Given the description of an element on the screen output the (x, y) to click on. 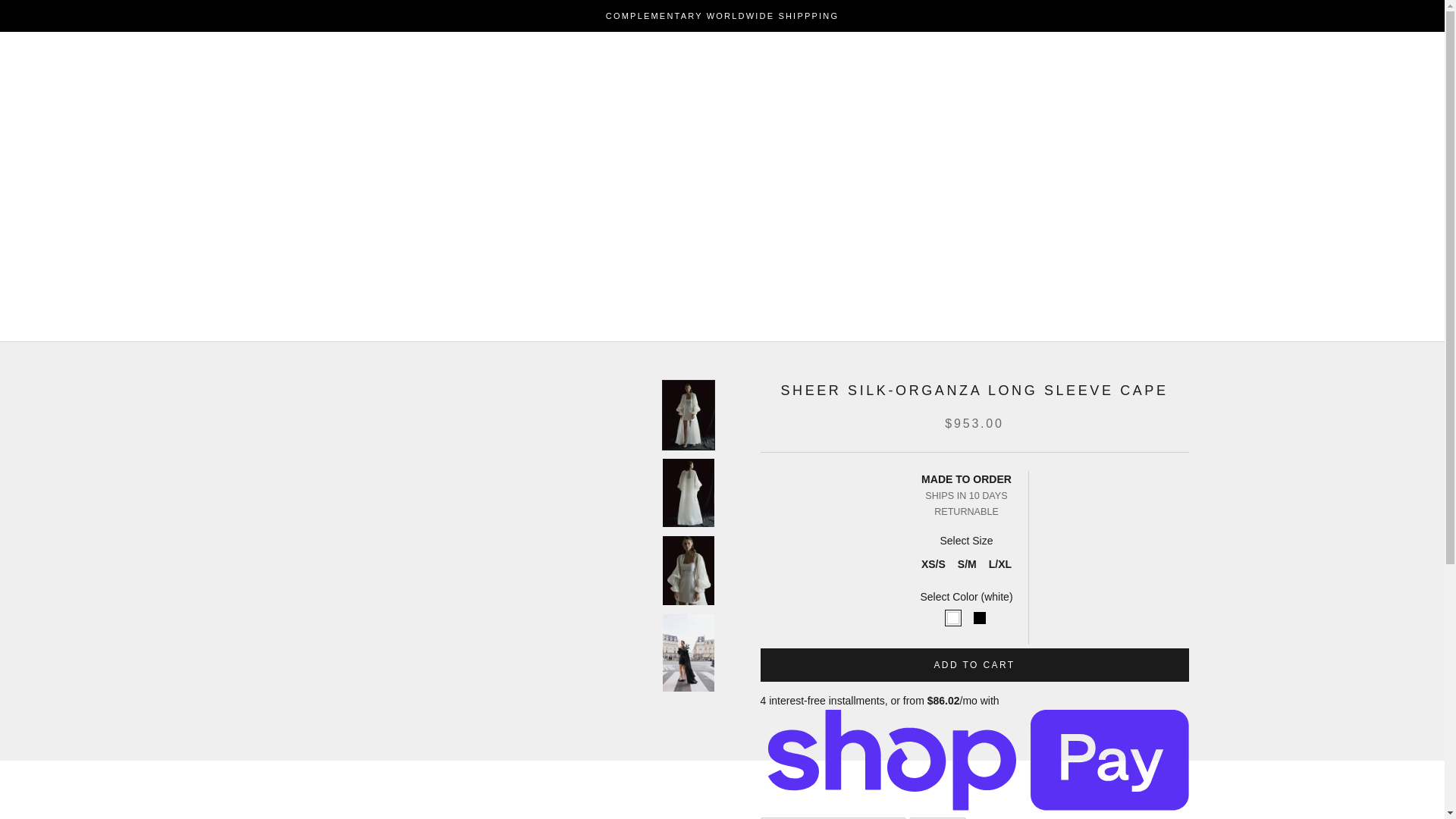
COMPLEMENTARY WORLDWIDE SHIPPPING (721, 15)
